Given the description of an element on the screen output the (x, y) to click on. 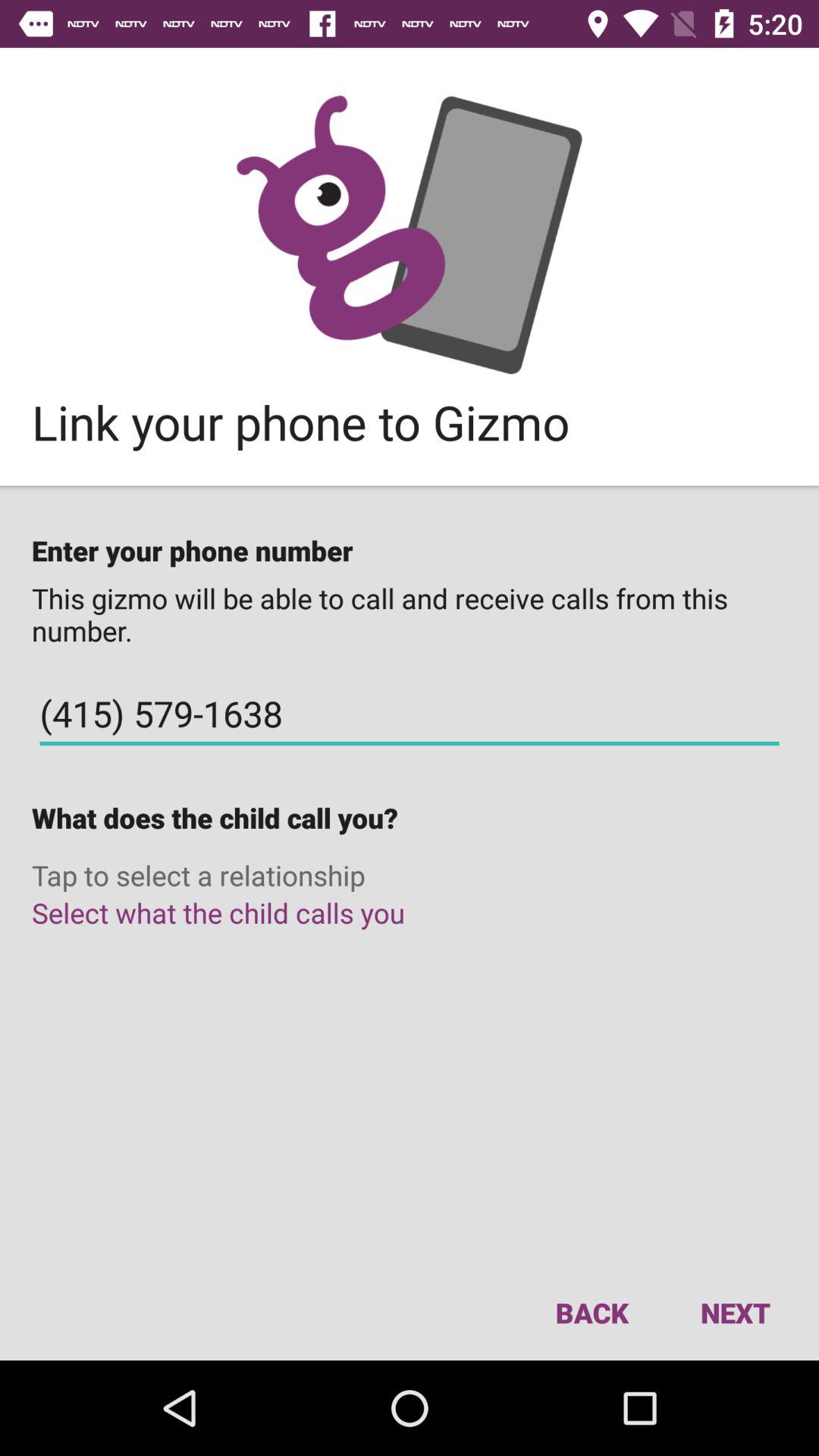
jump until next item (735, 1312)
